Given the description of an element on the screen output the (x, y) to click on. 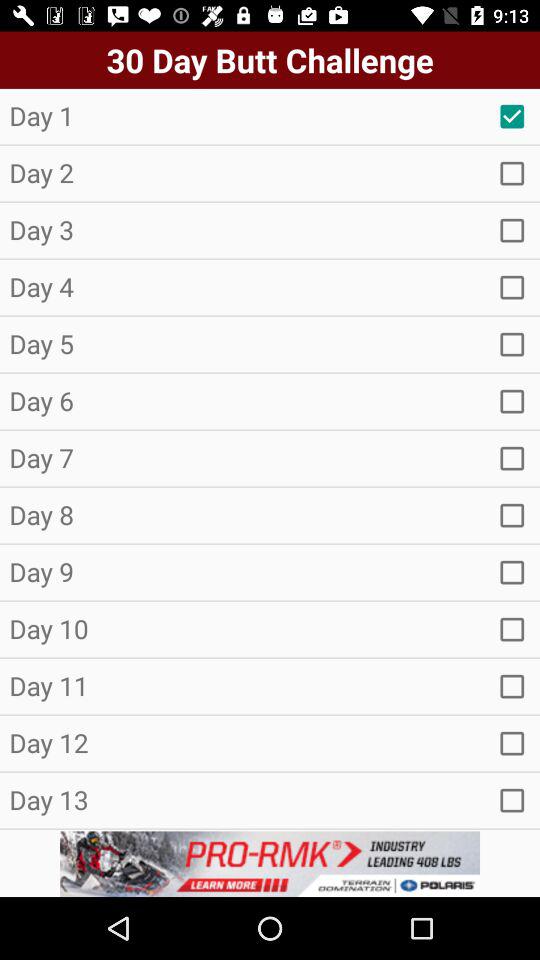
sekect day 3 (512, 230)
